Given the description of an element on the screen output the (x, y) to click on. 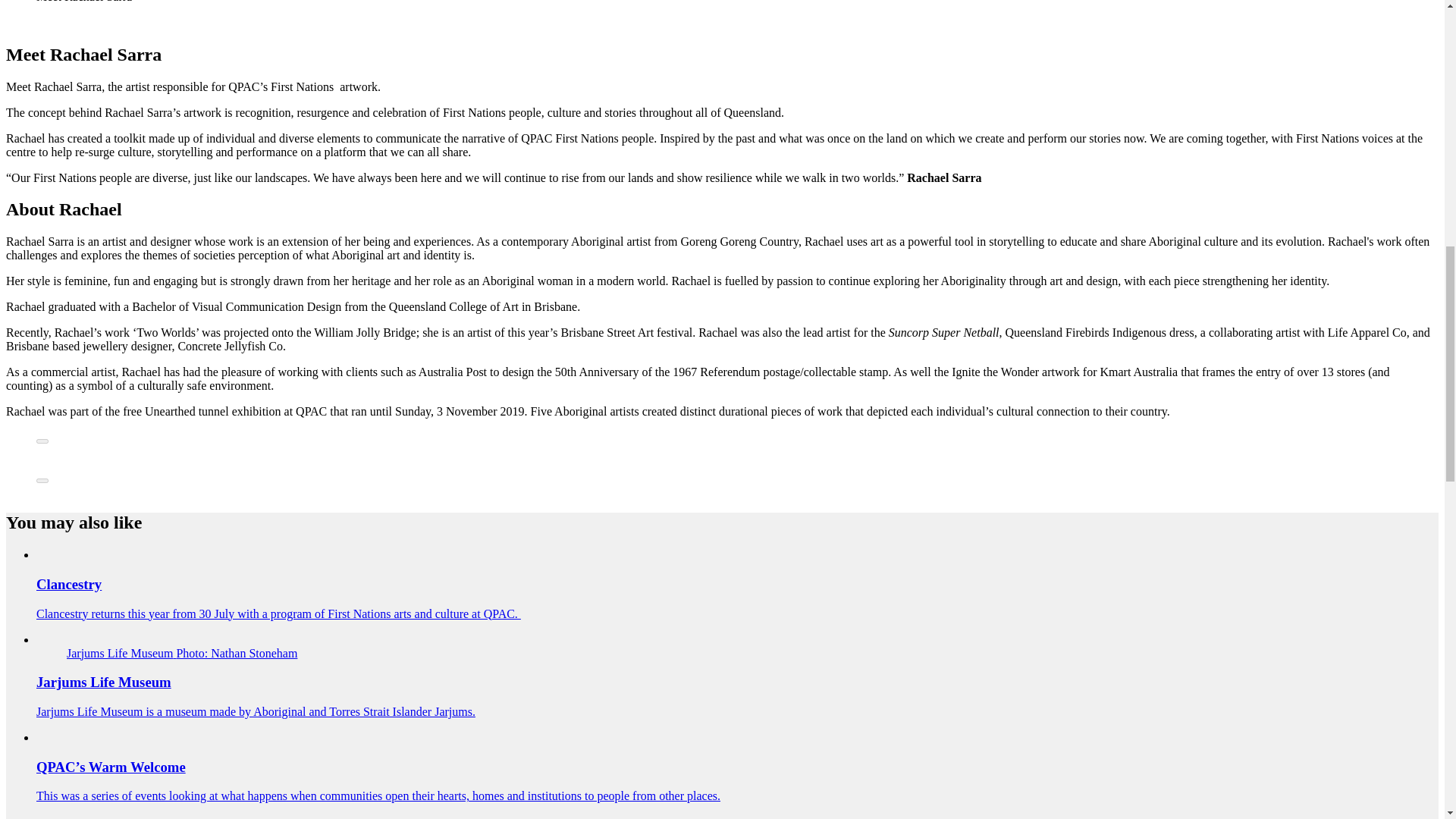
View full screen (42, 480)
View full screen (42, 440)
